Given the description of an element on the screen output the (x, y) to click on. 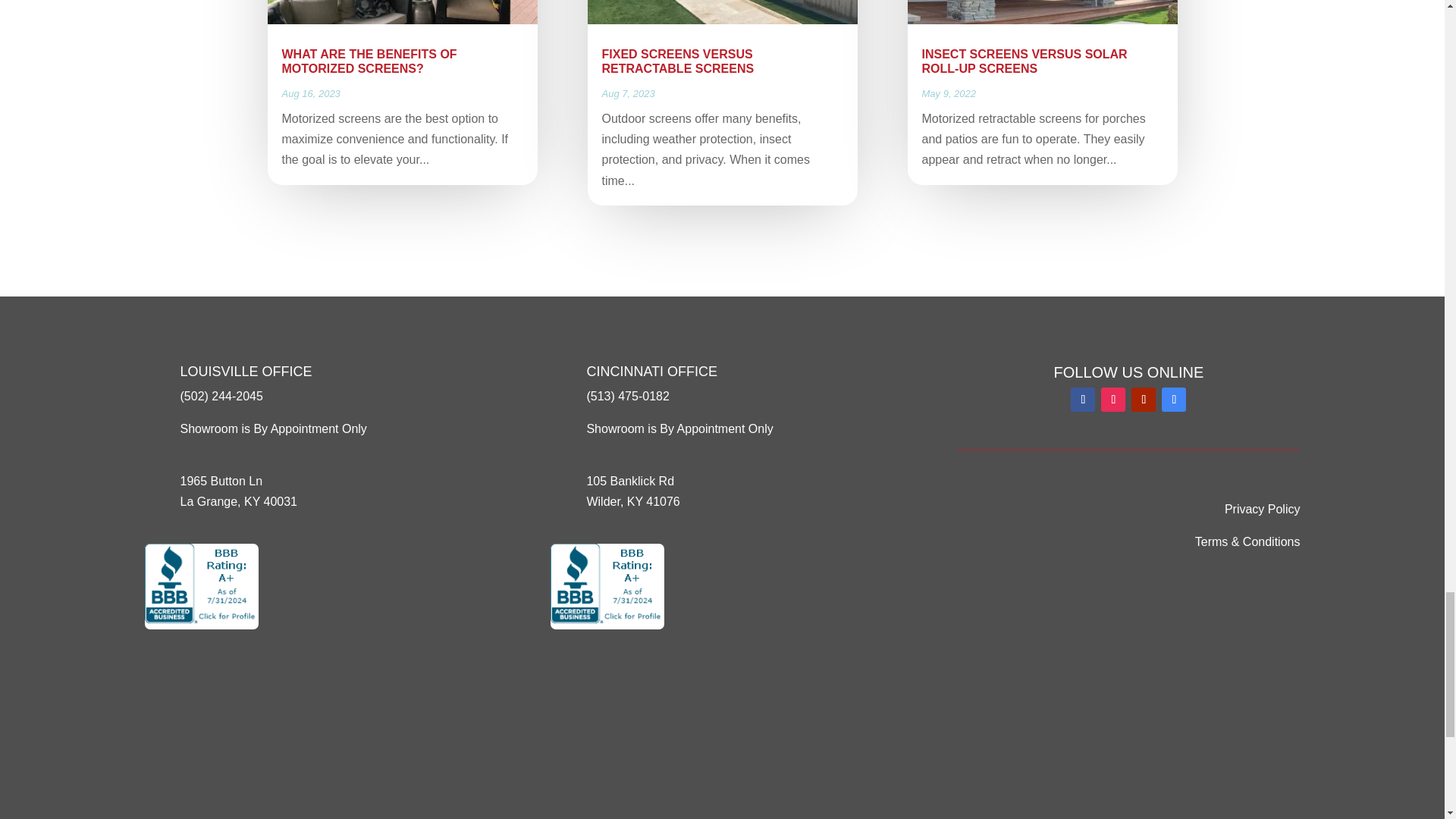
Follow on Facebook (1082, 399)
